Given the description of an element on the screen output the (x, y) to click on. 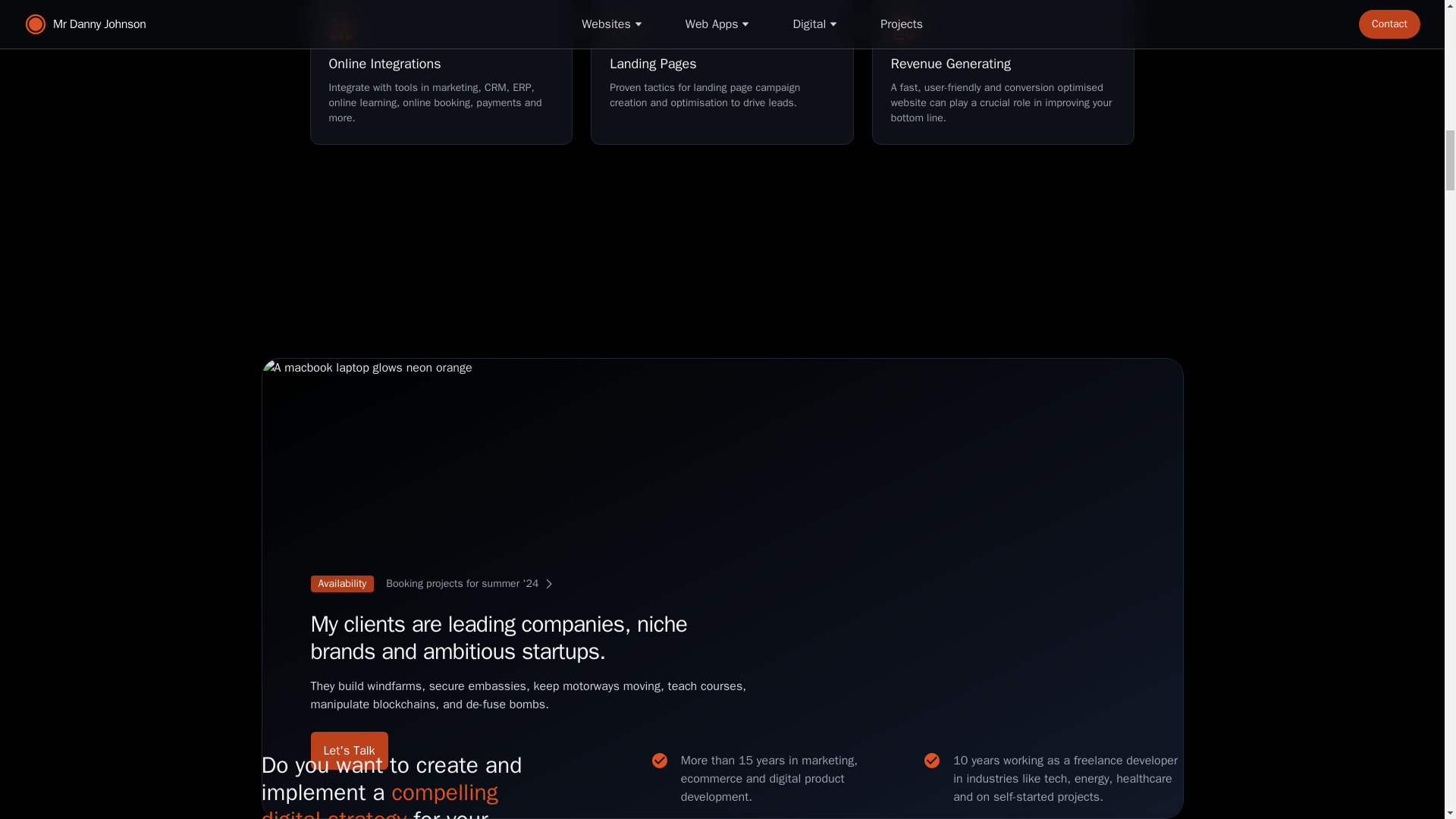
Let's Talk (529, 583)
